Given the description of an element on the screen output the (x, y) to click on. 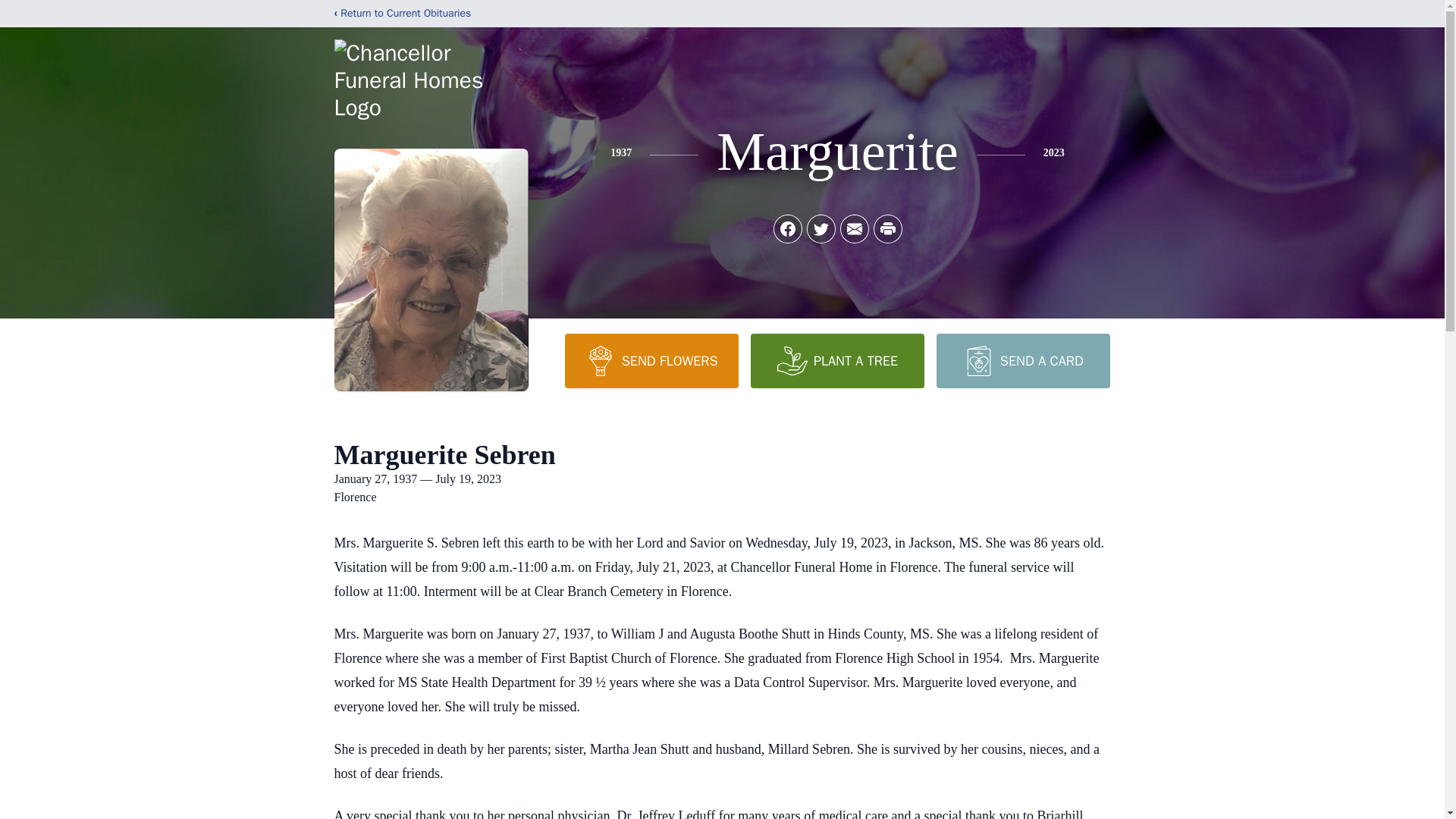
SEND A CARD (1022, 360)
PLANT A TREE (837, 360)
SEND FLOWERS (651, 360)
